Given the description of an element on the screen output the (x, y) to click on. 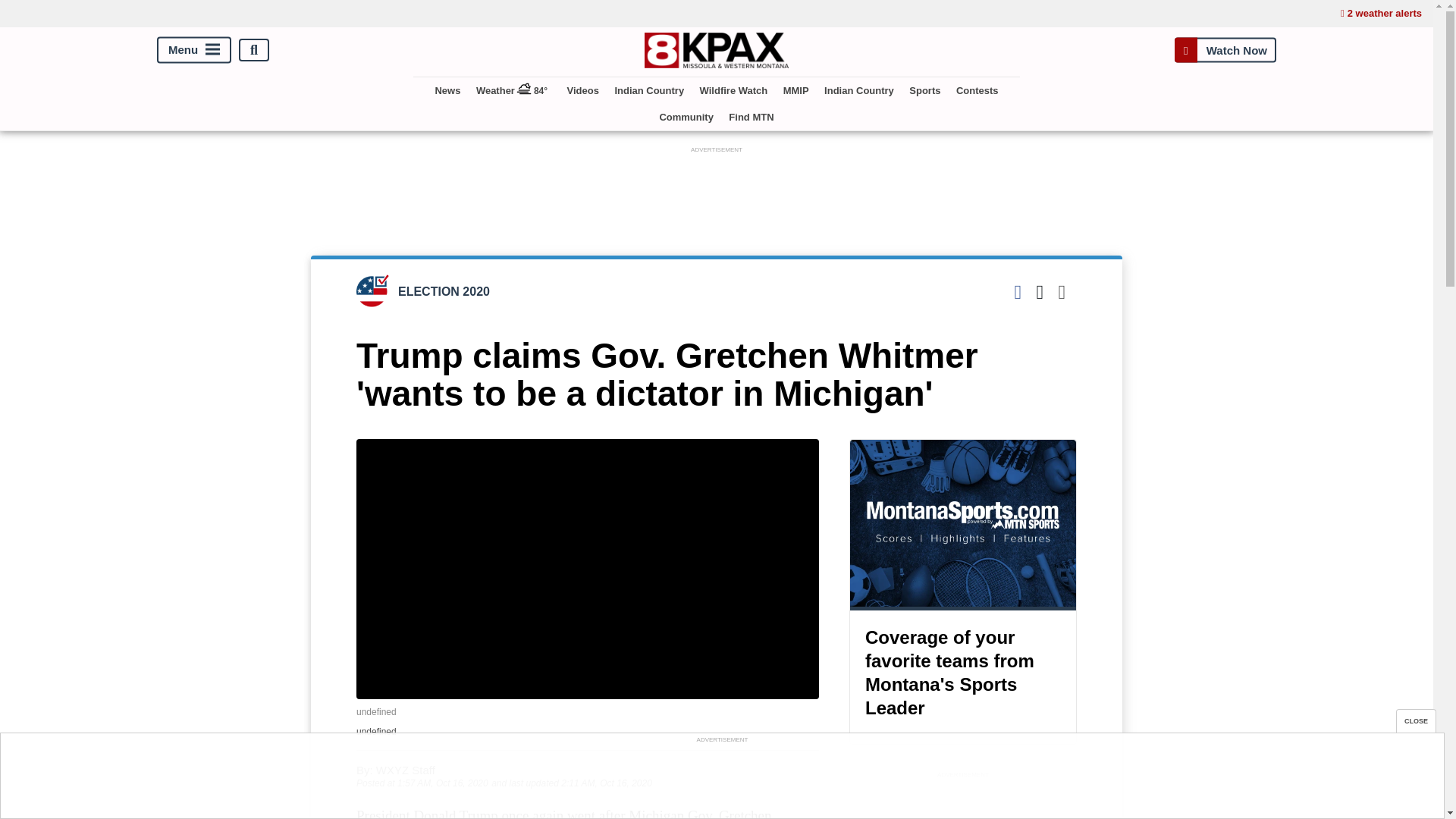
Watch Now (1224, 50)
Menu (194, 49)
3rd party ad content (962, 800)
3rd party ad content (716, 191)
3rd party ad content (721, 780)
